Given the description of an element on the screen output the (x, y) to click on. 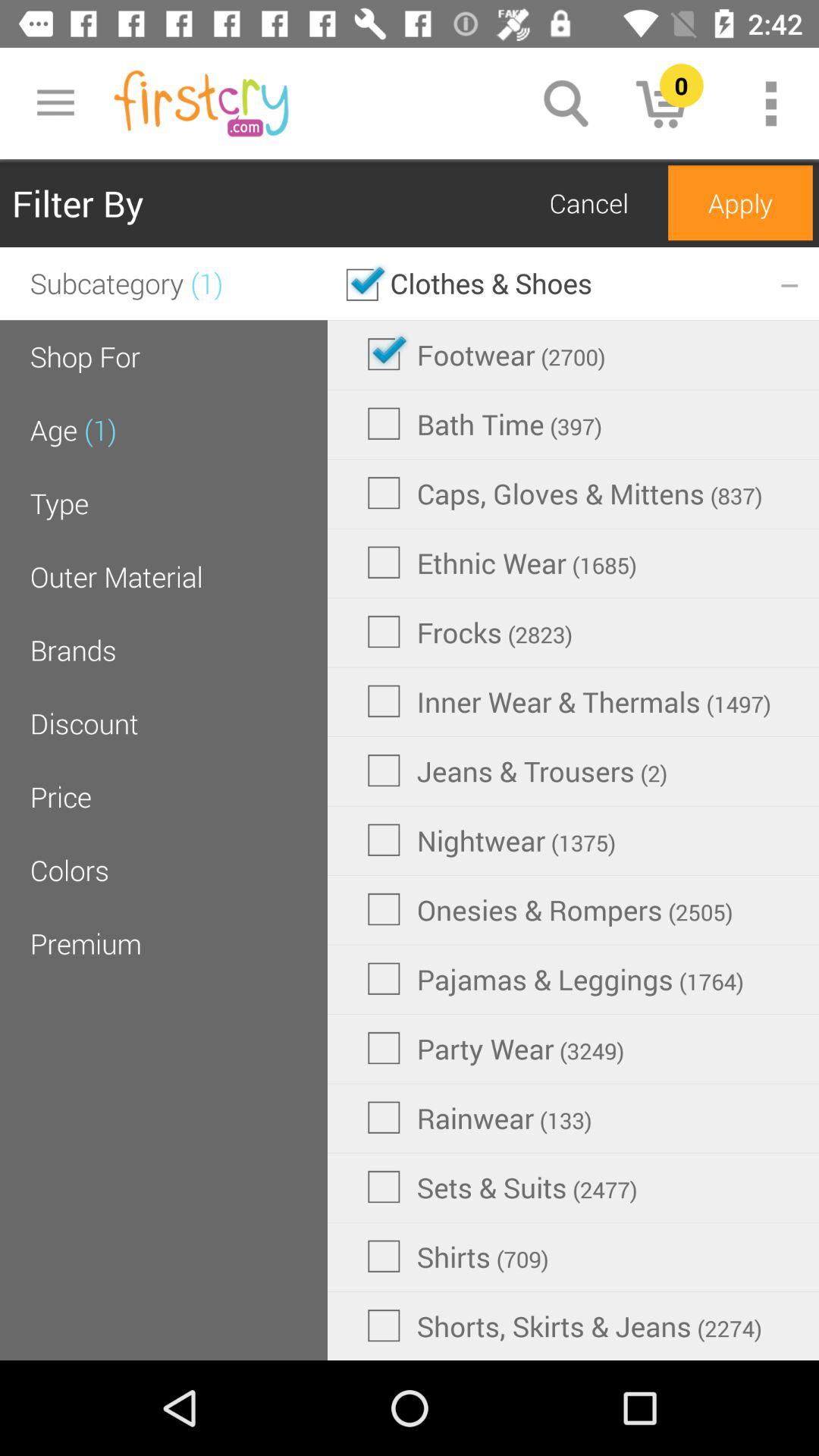
launch the icon to the right of the premium item (550, 909)
